Given the description of an element on the screen output the (x, y) to click on. 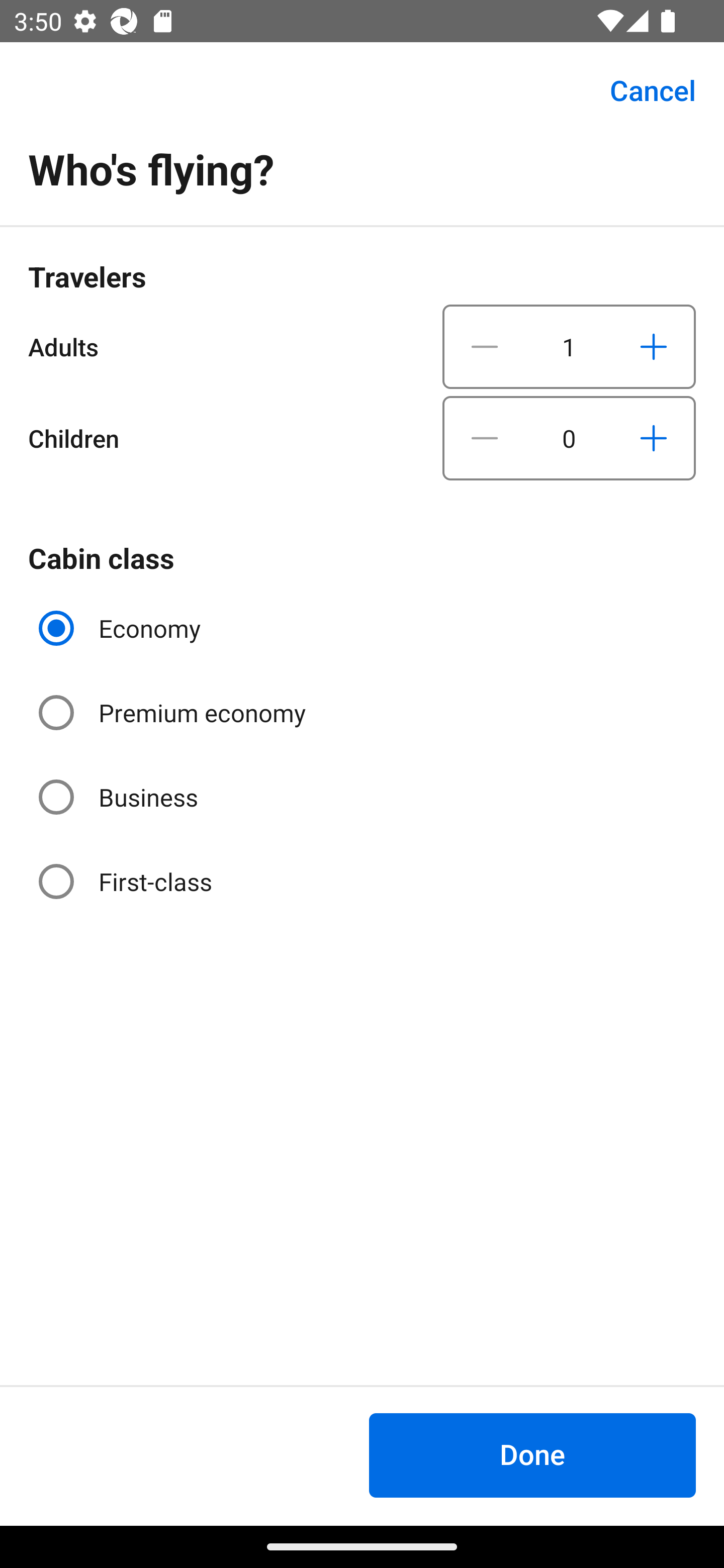
Cancel (641, 90)
Decrease (484, 346)
Increase (653, 346)
Decrease (484, 437)
Increase (653, 437)
Economy (121, 628)
Premium economy (174, 712)
Business (120, 796)
First-class (126, 880)
Done (532, 1454)
